Given the description of an element on the screen output the (x, y) to click on. 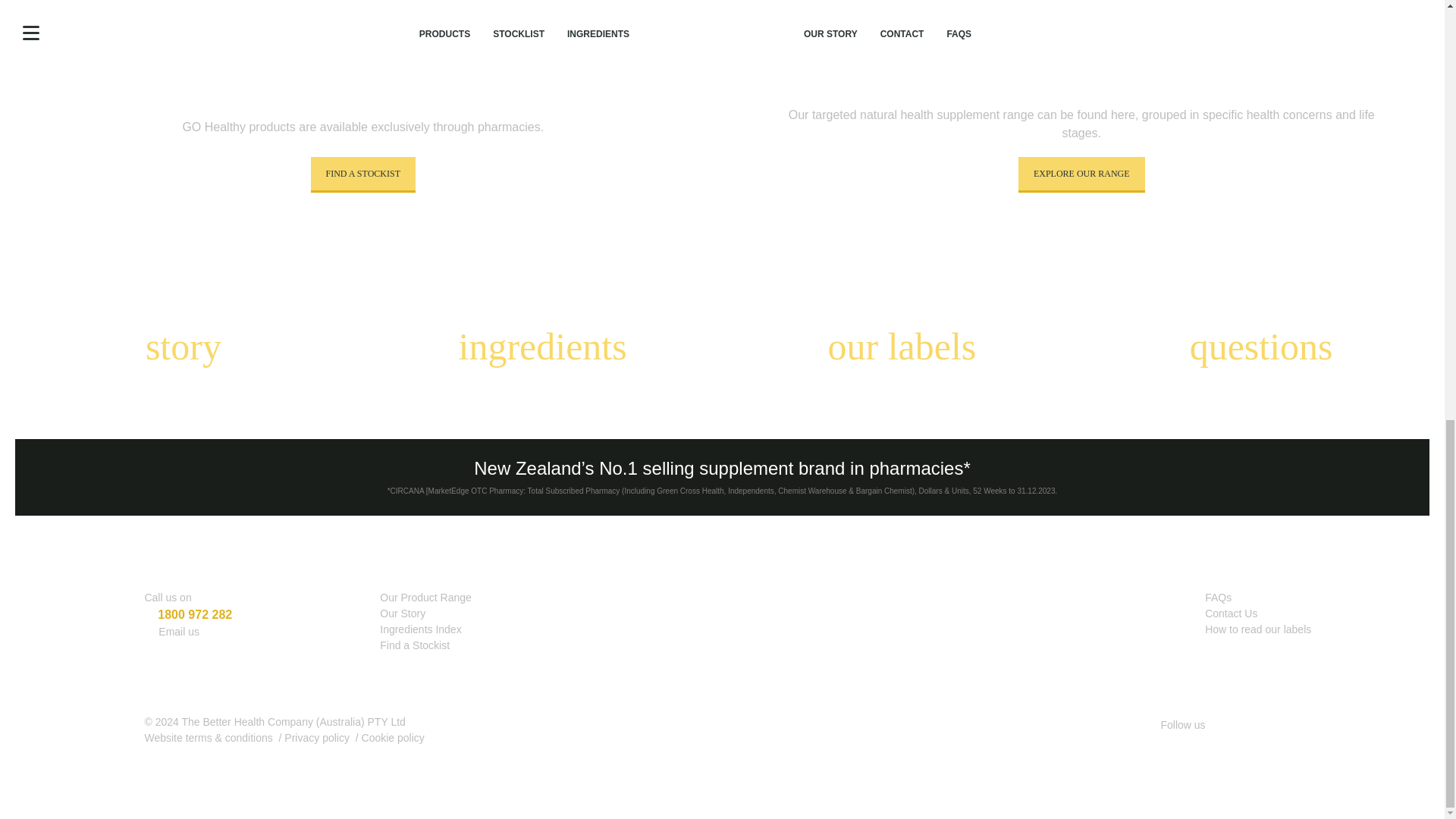
1800 972 282 (194, 614)
Our Product Range (425, 597)
Email us (178, 631)
